Given the description of an element on the screen output the (x, y) to click on. 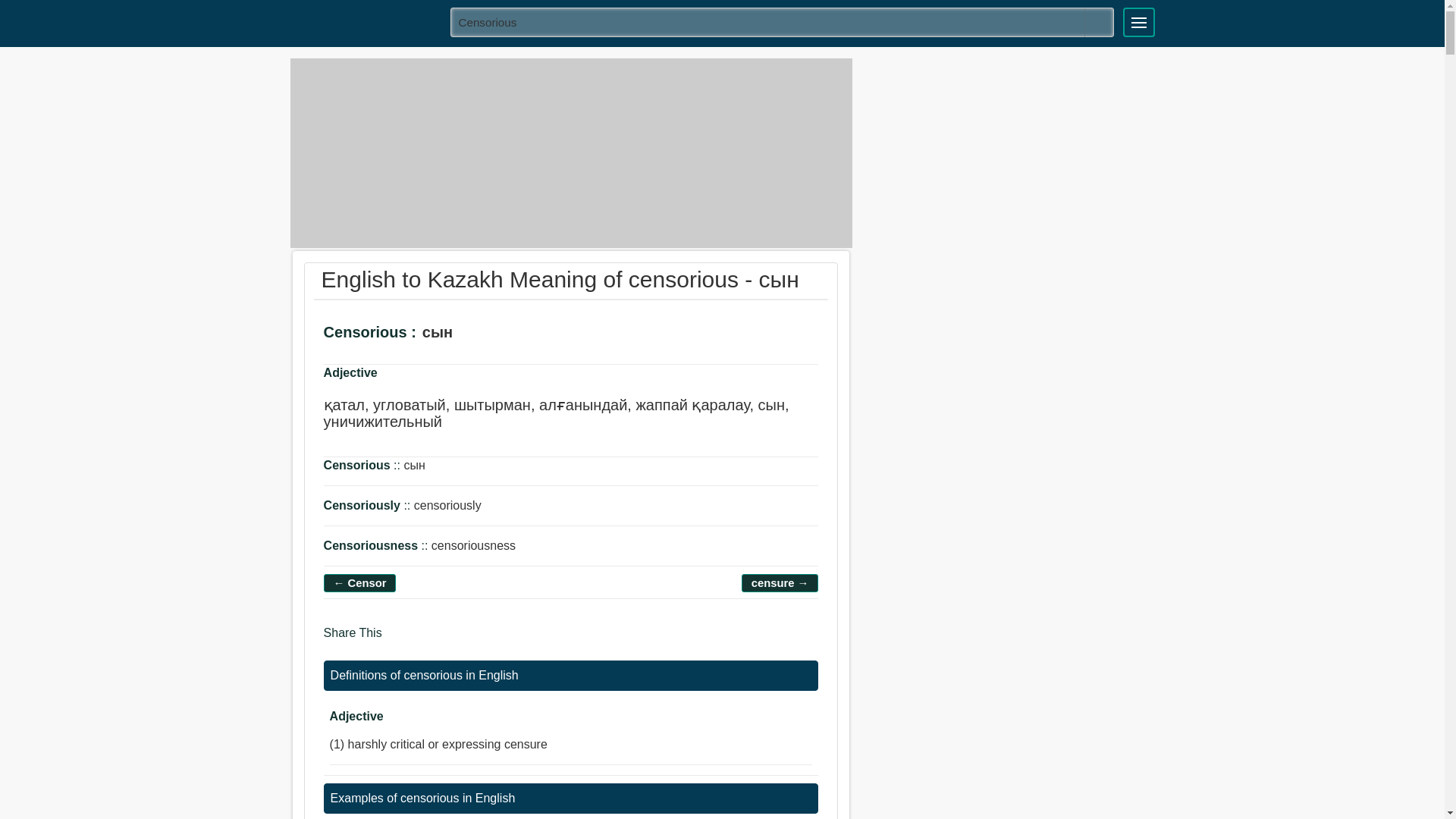
Twitter (428, 640)
Facebook (398, 640)
More Share (485, 640)
Linkedin (458, 640)
Search (1098, 22)
Say The Word (478, 334)
English to Kazakh meaning of censor (360, 582)
KAZAKH (365, 20)
English to Kazakh meaning of censure (780, 582)
Add To Favorites (520, 334)
censorious (782, 21)
